Given the description of an element on the screen output the (x, y) to click on. 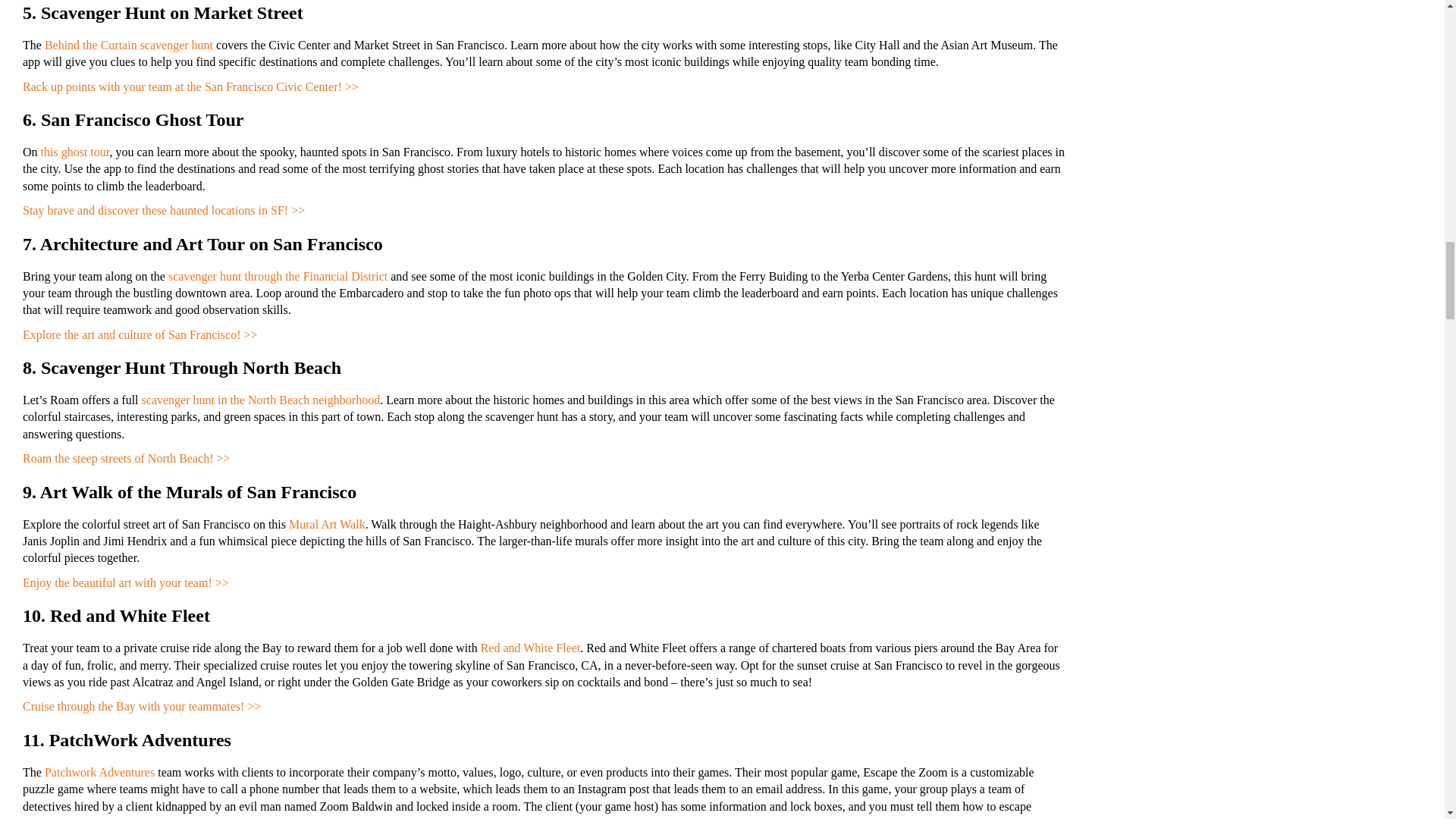
scavenger hunt in the North Beach neighborhood (260, 399)
this ghost tour (75, 151)
scavenger hunt through the Financial District (277, 276)
Behind the Curtain scavenger hunt (128, 44)
Mural Art Walk (326, 523)
